Given the description of an element on the screen output the (x, y) to click on. 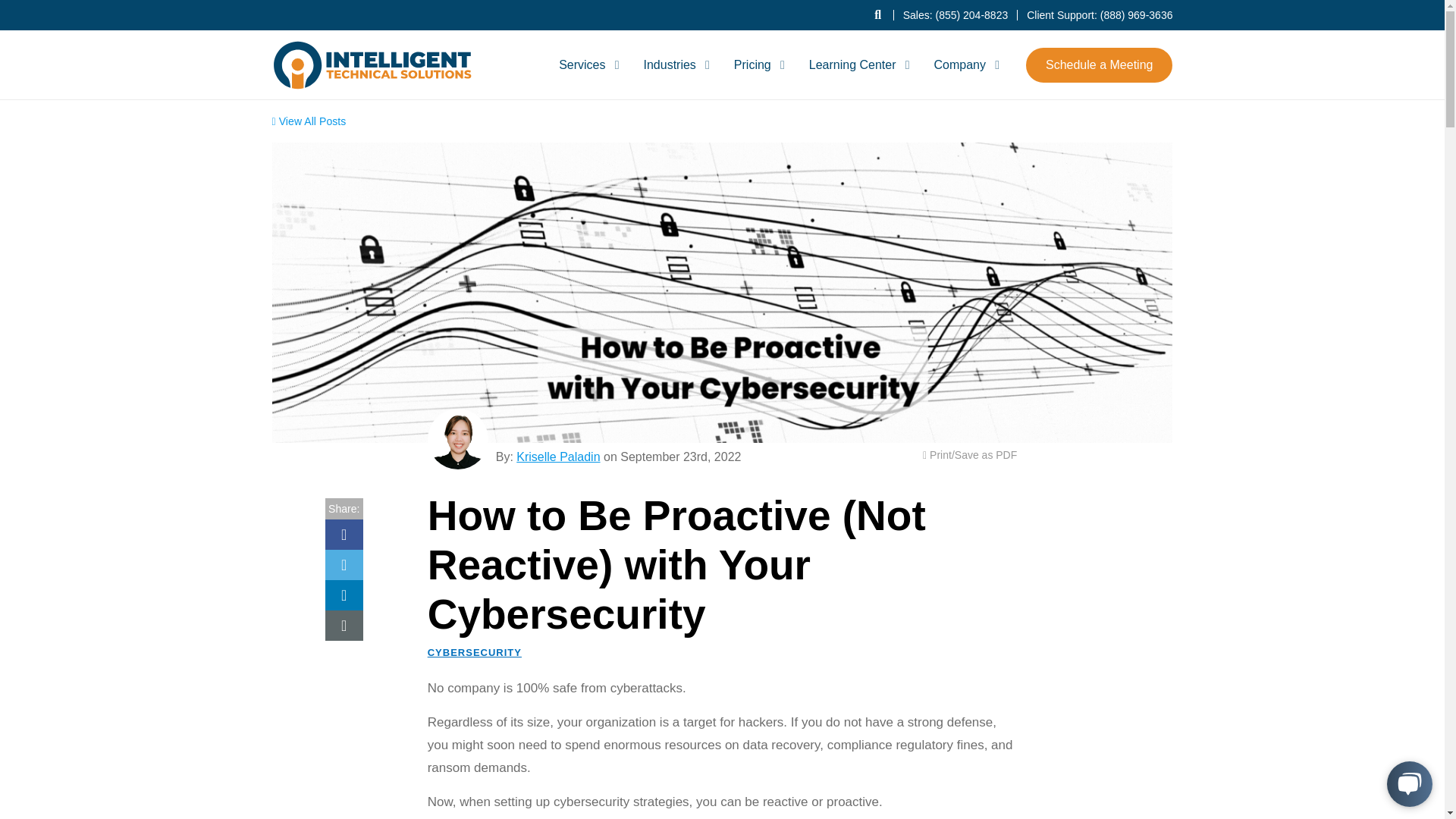
Learning Center (856, 64)
Share on Facebook (343, 534)
Company (963, 64)
Share via Email (343, 625)
Kriselle Paladin (457, 438)
Pricing (757, 64)
Share on Linkedin (343, 594)
Industries (673, 64)
Share on Twitter (343, 564)
Services (586, 64)
